Given the description of an element on the screen output the (x, y) to click on. 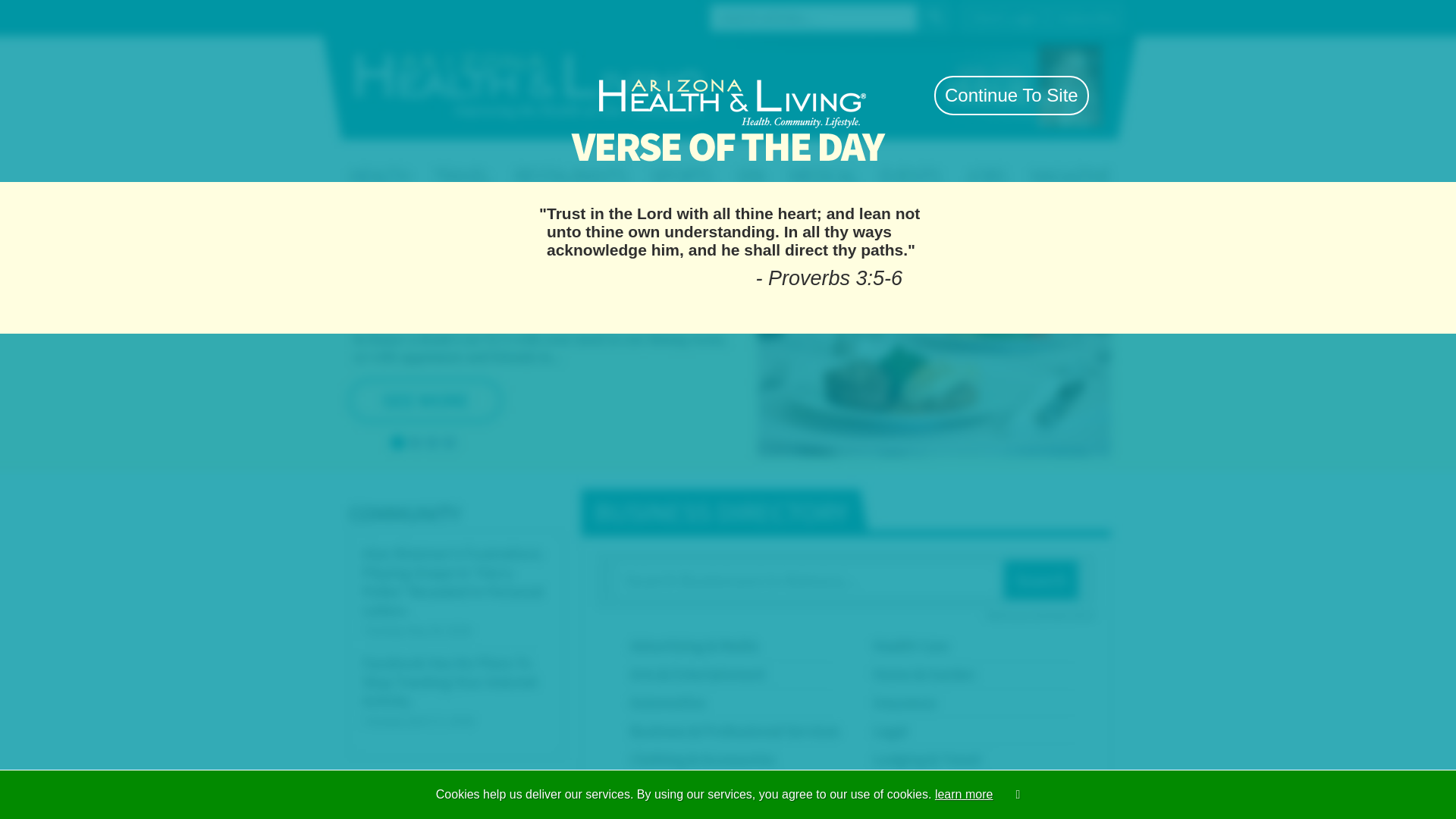
TRAVEL (658, 160)
FOOD (771, 160)
BLOG (1101, 160)
Home (396, 16)
view issue (975, 93)
LIVING (541, 160)
EVENTS (986, 160)
subscribe (878, 93)
Contact Us (442, 16)
advertise (927, 93)
